Given the description of an element on the screen output the (x, y) to click on. 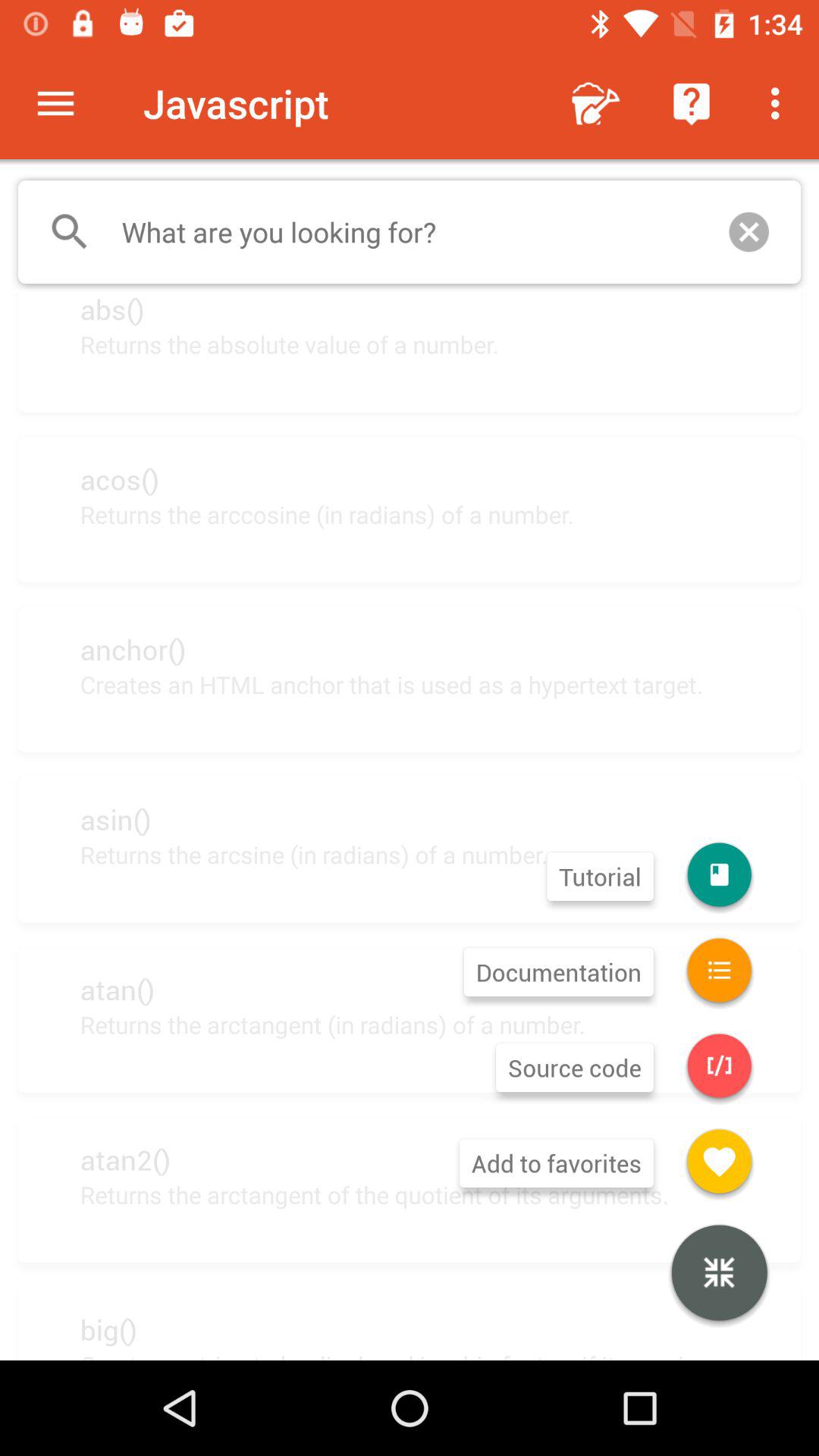
turn off the app to the right of javascript app (595, 103)
